Given the description of an element on the screen output the (x, y) to click on. 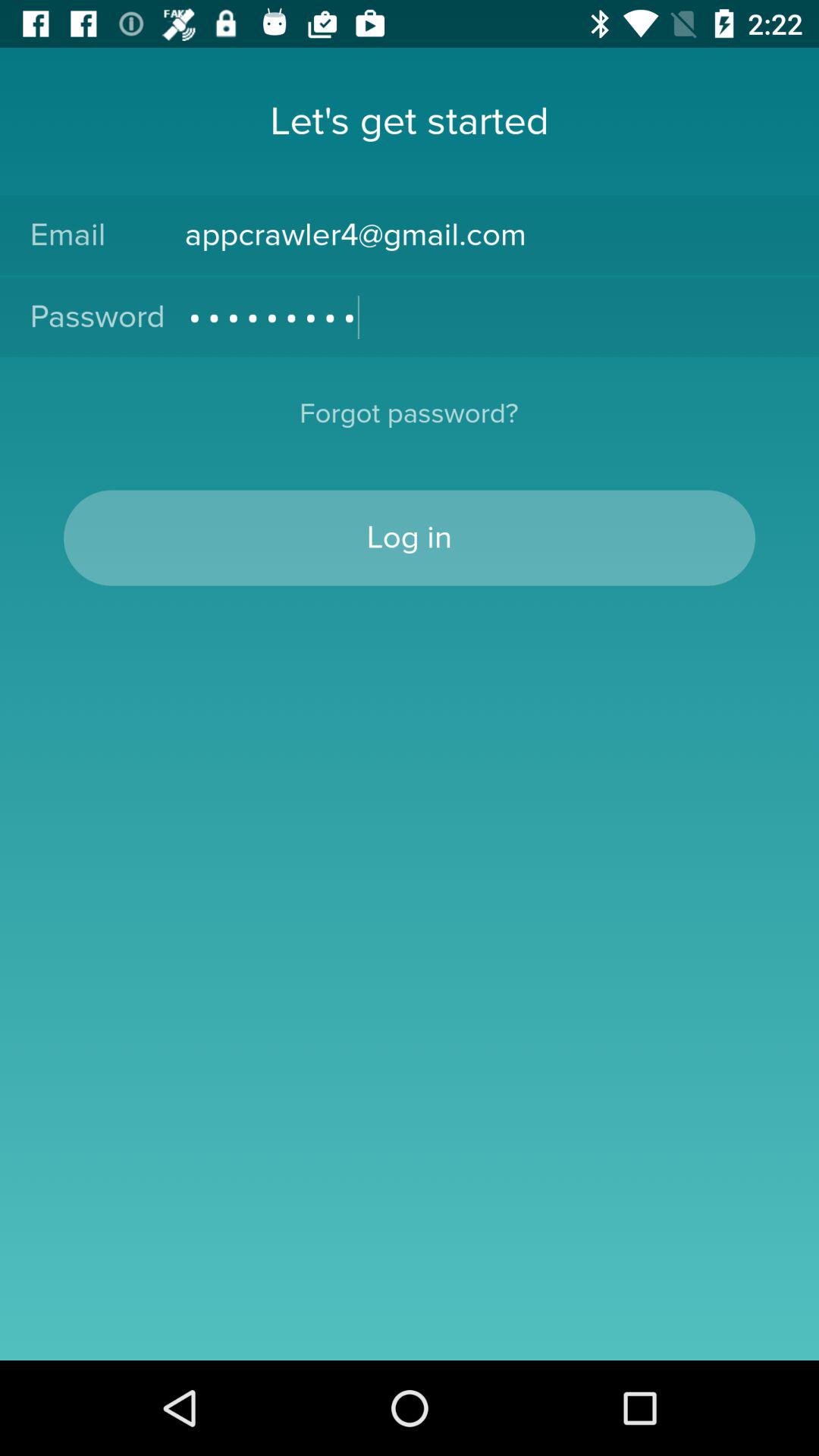
launch item above the forgot password? icon (486, 316)
